Given the description of an element on the screen output the (x, y) to click on. 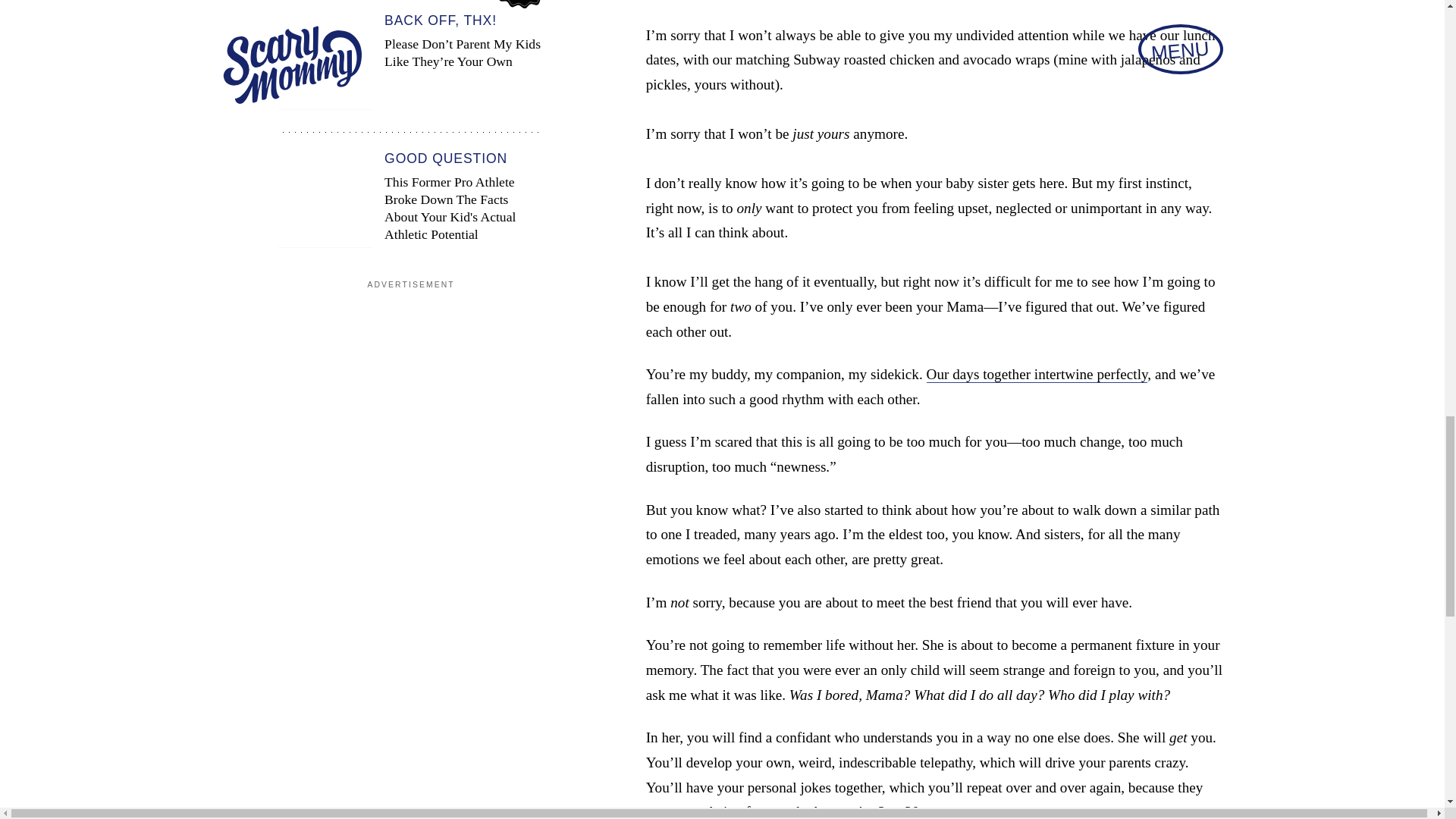
Our days together intertwine perfectly (1037, 374)
